Given the description of an element on the screen output the (x, y) to click on. 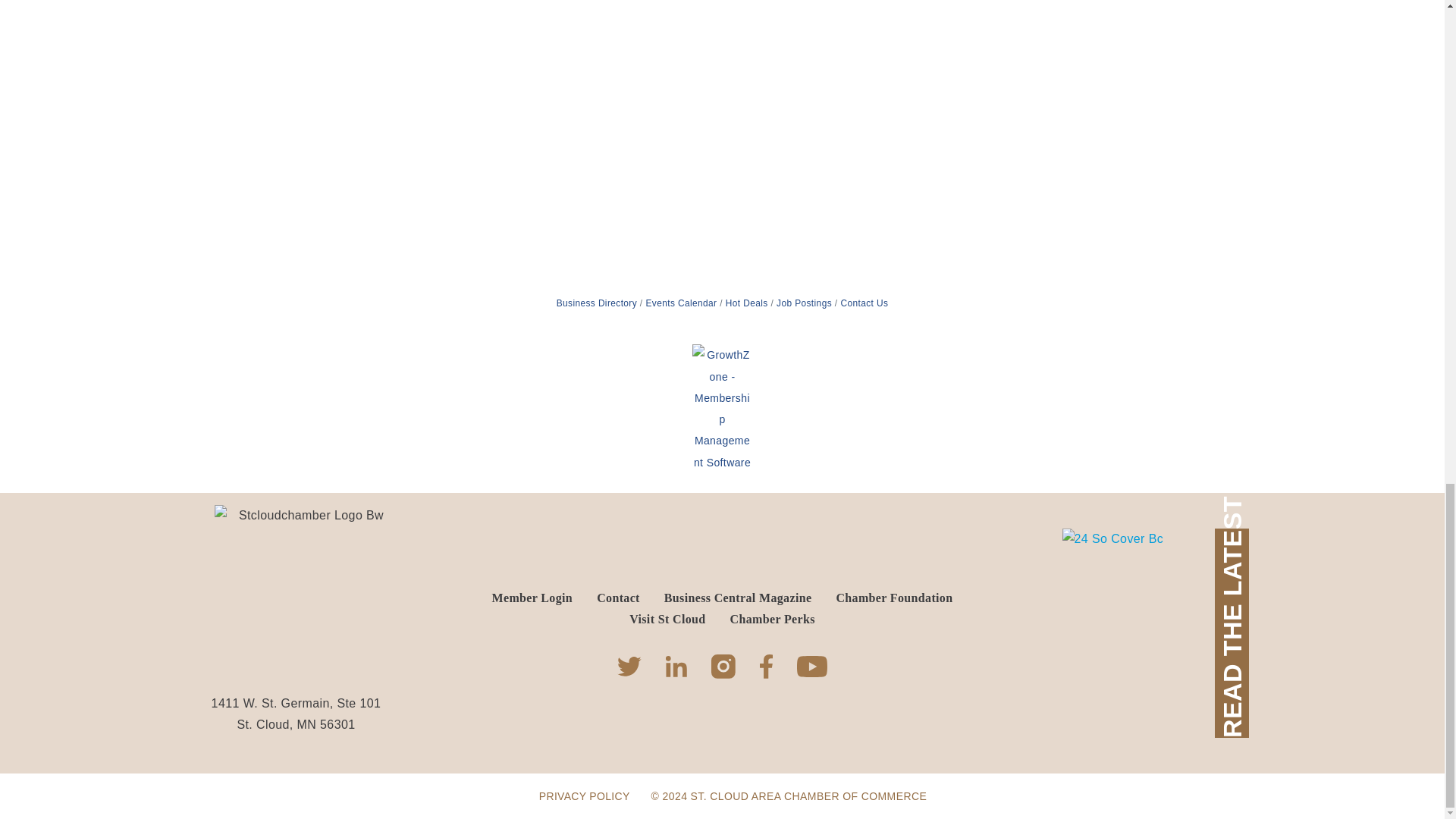
instagram (723, 666)
Twitter (629, 666)
linkedin (676, 666)
